Given the description of an element on the screen output the (x, y) to click on. 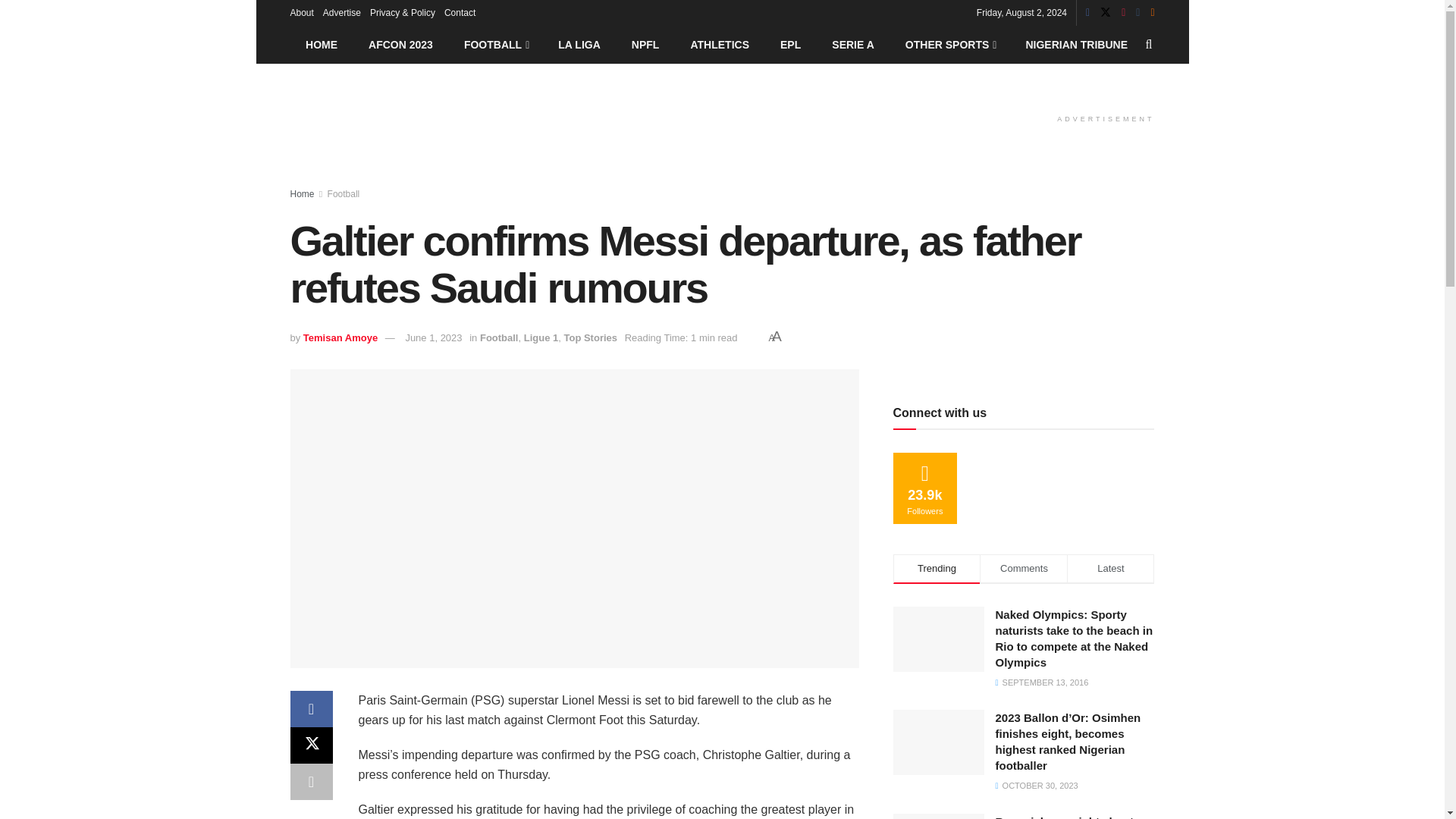
LA LIGA (579, 44)
SERIE A (852, 44)
Contact (460, 12)
EPL (789, 44)
About (301, 12)
OTHER SPORTS (949, 44)
ATHLETICS (720, 44)
NPFL (645, 44)
AFCON 2023 (400, 44)
HOME (320, 44)
NIGERIAN TRIBUNE (1076, 44)
FOOTBALL (494, 44)
Advertise (342, 12)
